Given the description of an element on the screen output the (x, y) to click on. 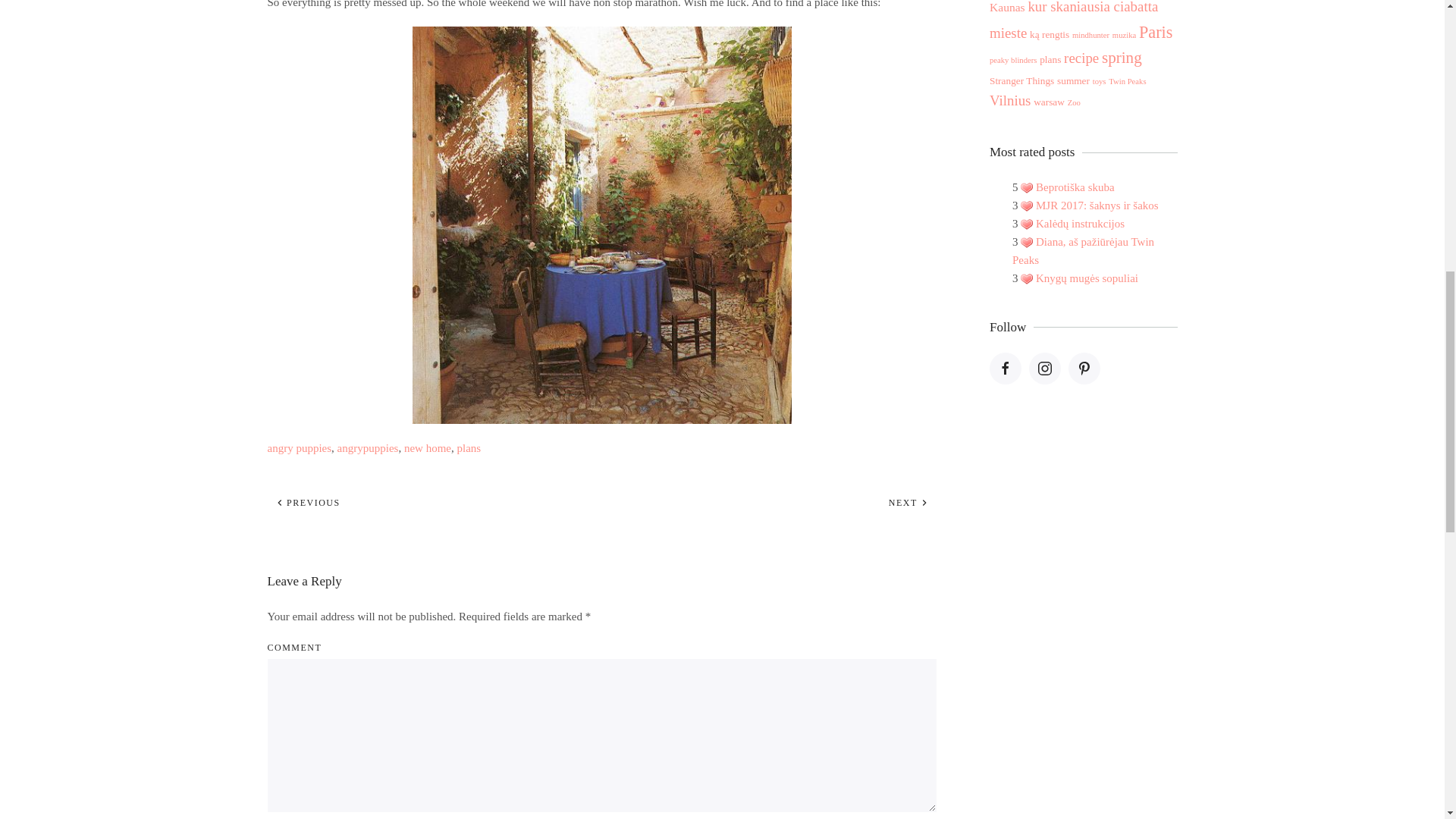
3 votes, average: 1.00 out of 1 (1026, 224)
new home (427, 448)
3 votes, average: 1.00 out of 1 (1026, 205)
5 votes, average: 1.00 out of 1 (1026, 187)
3 votes, average: 1.00 out of 1 (1026, 278)
angry puppies (298, 448)
angrypuppies (367, 448)
NEXT (908, 502)
PREVIOUS (306, 502)
3 votes, average: 1.00 out of 1 (1026, 242)
plans (468, 448)
